Given the description of an element on the screen output the (x, y) to click on. 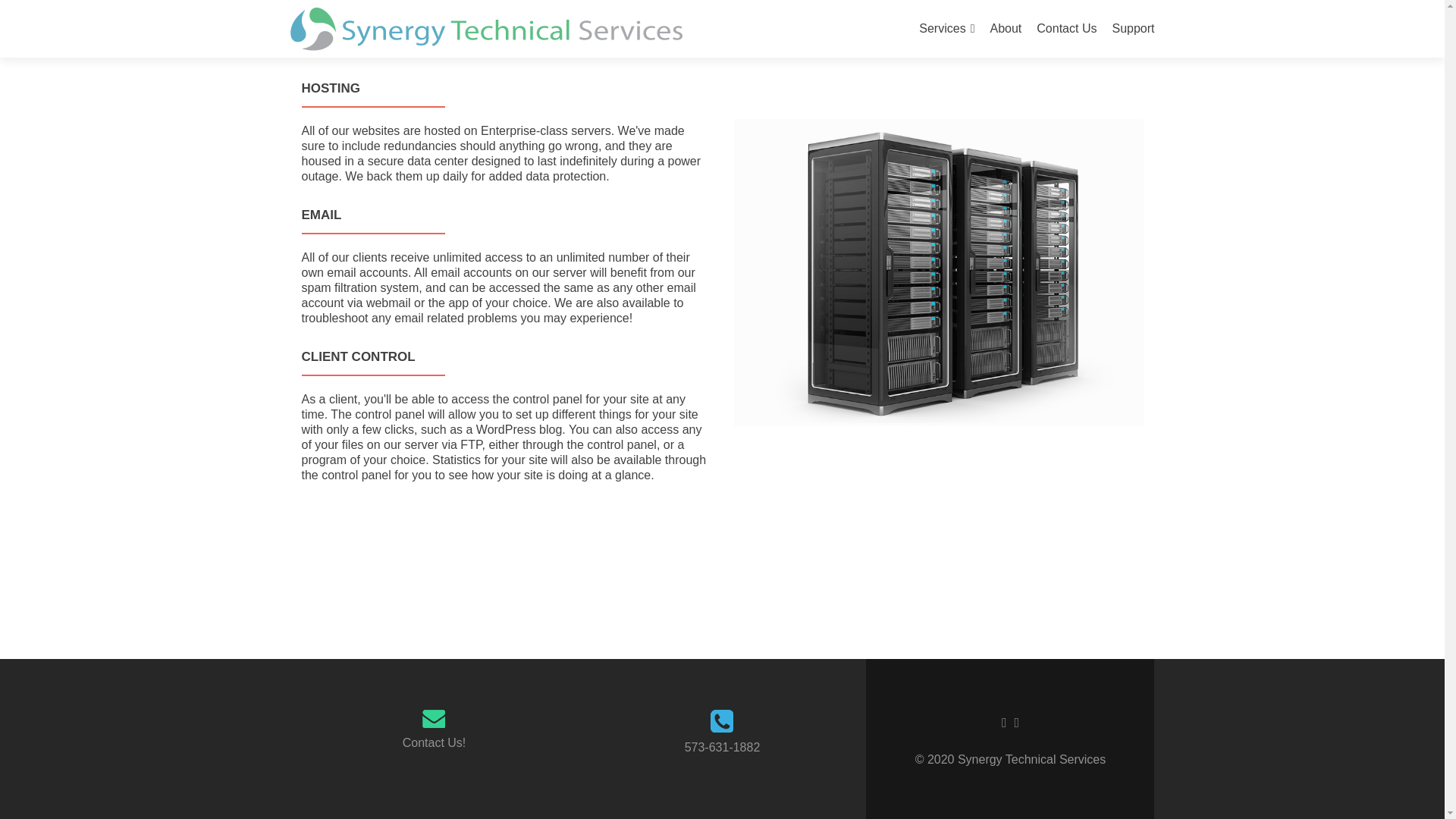
Support (1133, 28)
573-631-1882 (722, 747)
Contact Us (1066, 28)
Services (946, 28)
Contact Us! (434, 742)
About (1006, 28)
